Given the description of an element on the screen output the (x, y) to click on. 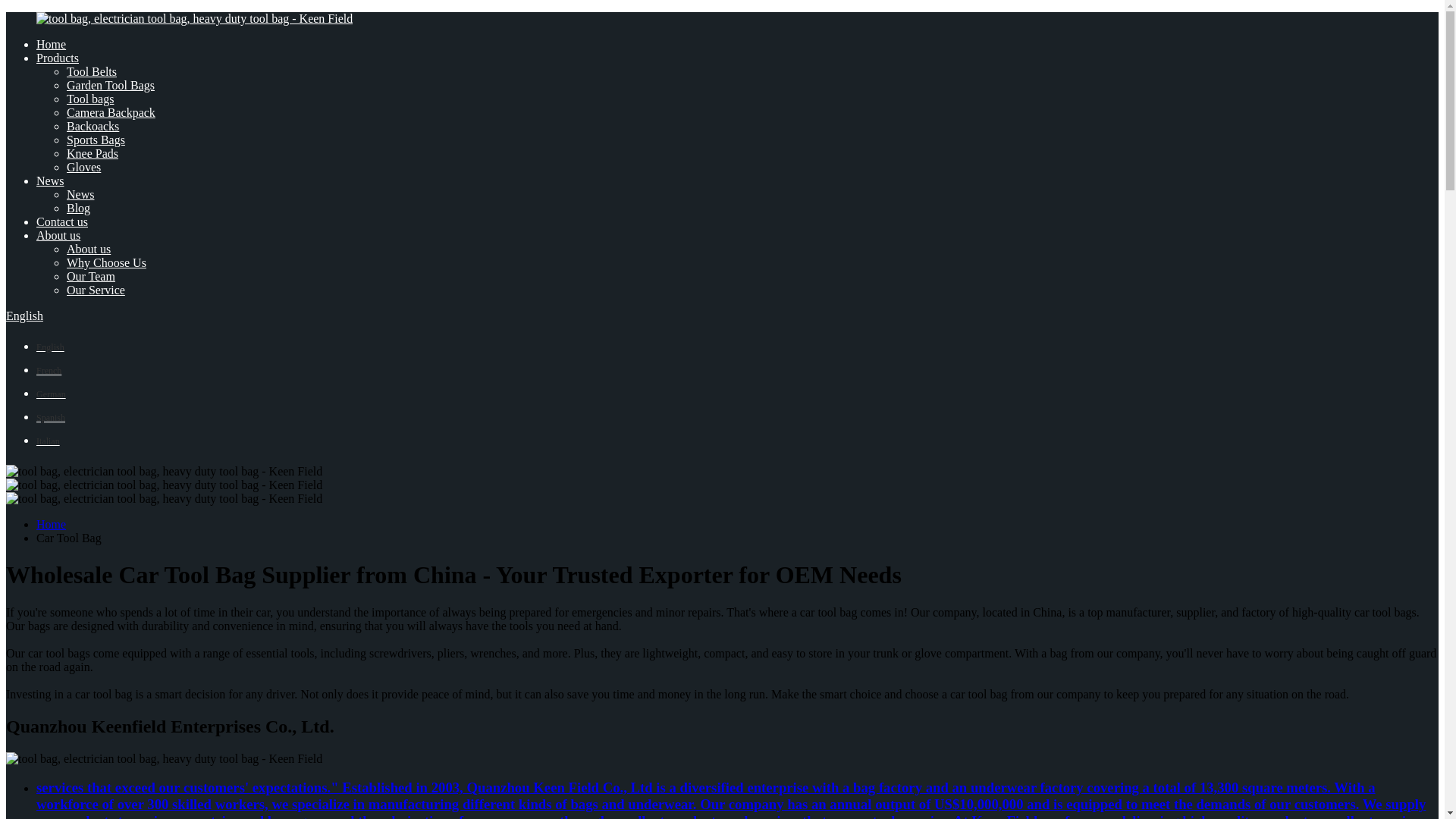
French (48, 369)
Products (57, 57)
News (50, 180)
About us (88, 248)
Home (50, 43)
Our Team (90, 276)
Tool Belts (91, 71)
English (50, 345)
German (50, 392)
Our Service (95, 289)
French (48, 369)
Garden Tool Bags (110, 84)
English (50, 345)
Blog (78, 207)
Sports Bags (95, 139)
